Given the description of an element on the screen output the (x, y) to click on. 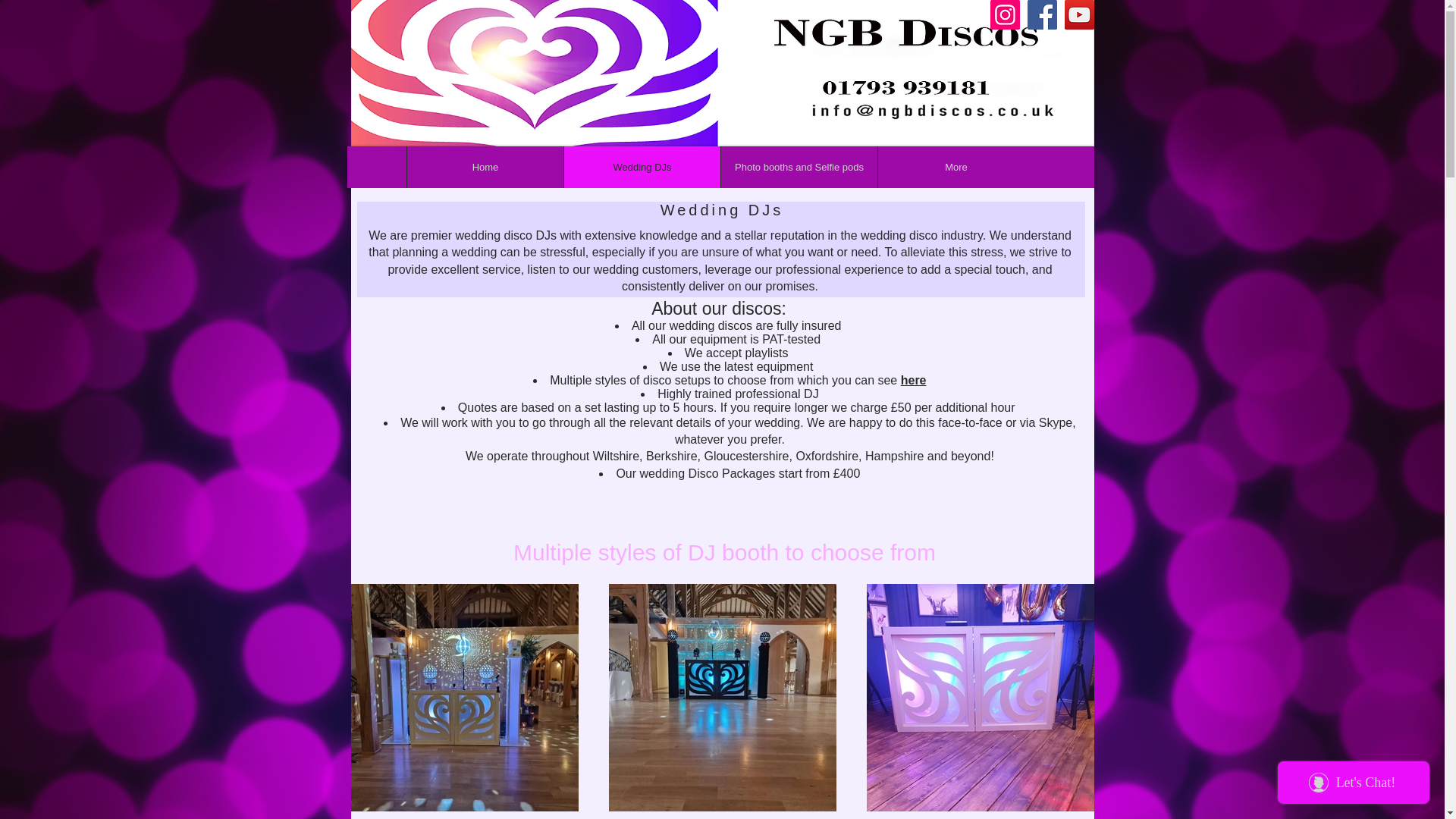
here (913, 379)
Home (484, 167)
Wedding DJs (641, 167)
Photo booths and Selfie pods (798, 167)
